Given the description of an element on the screen output the (x, y) to click on. 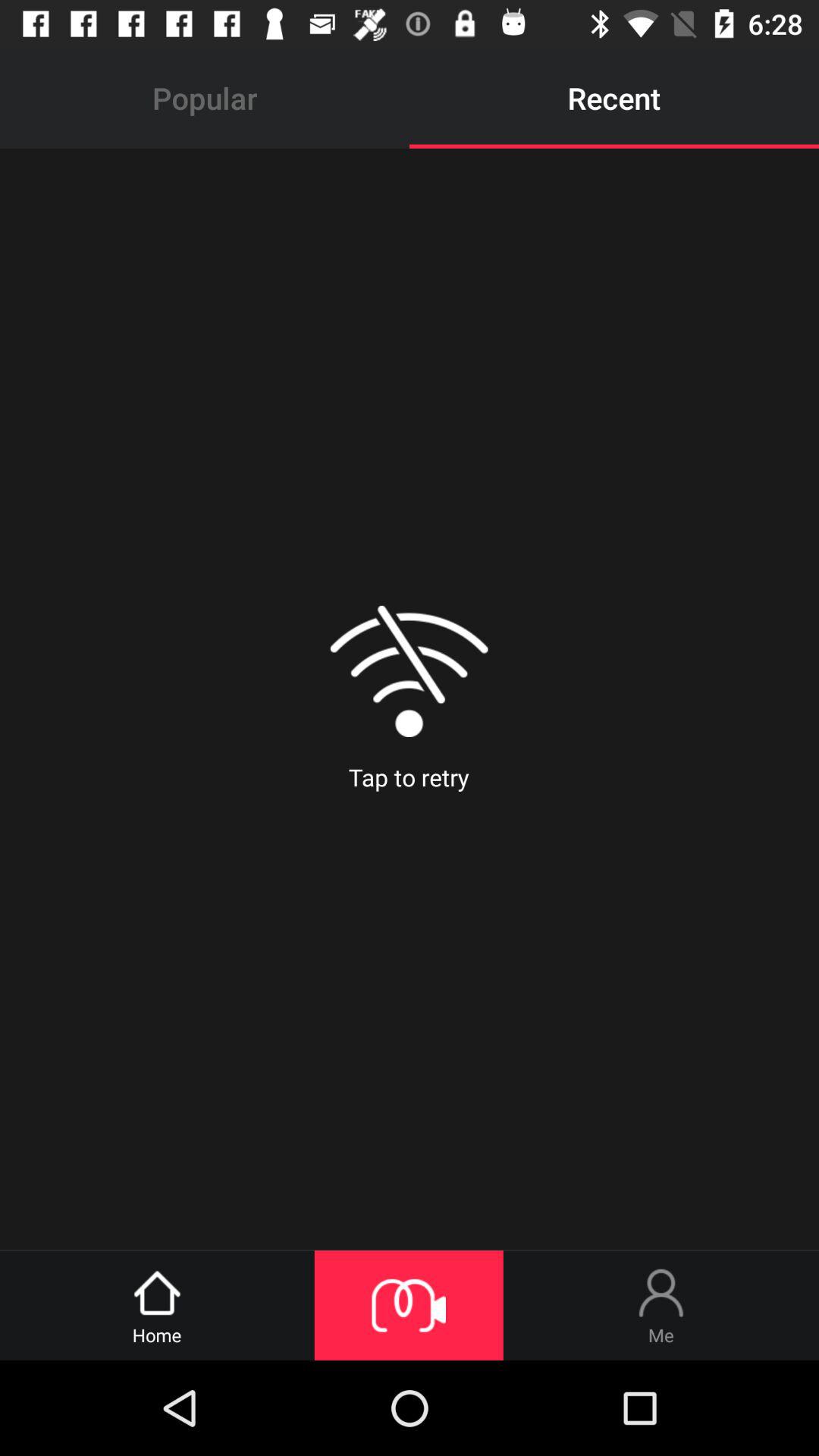
turn on tap to retry (408, 699)
